Given the description of an element on the screen output the (x, y) to click on. 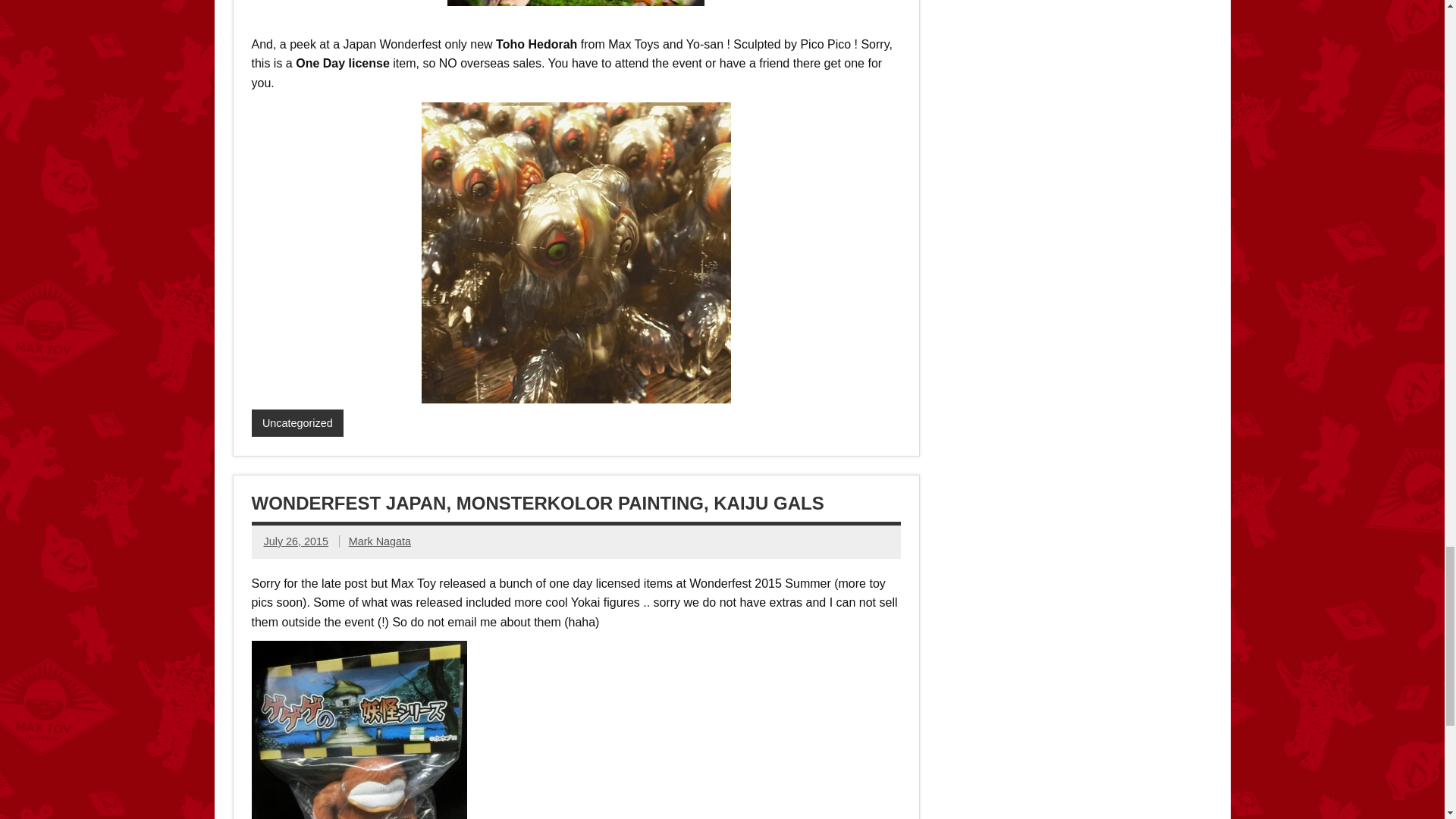
View all posts by Mark Nagata (379, 541)
9:08 pm (296, 541)
